Given the description of an element on the screen output the (x, y) to click on. 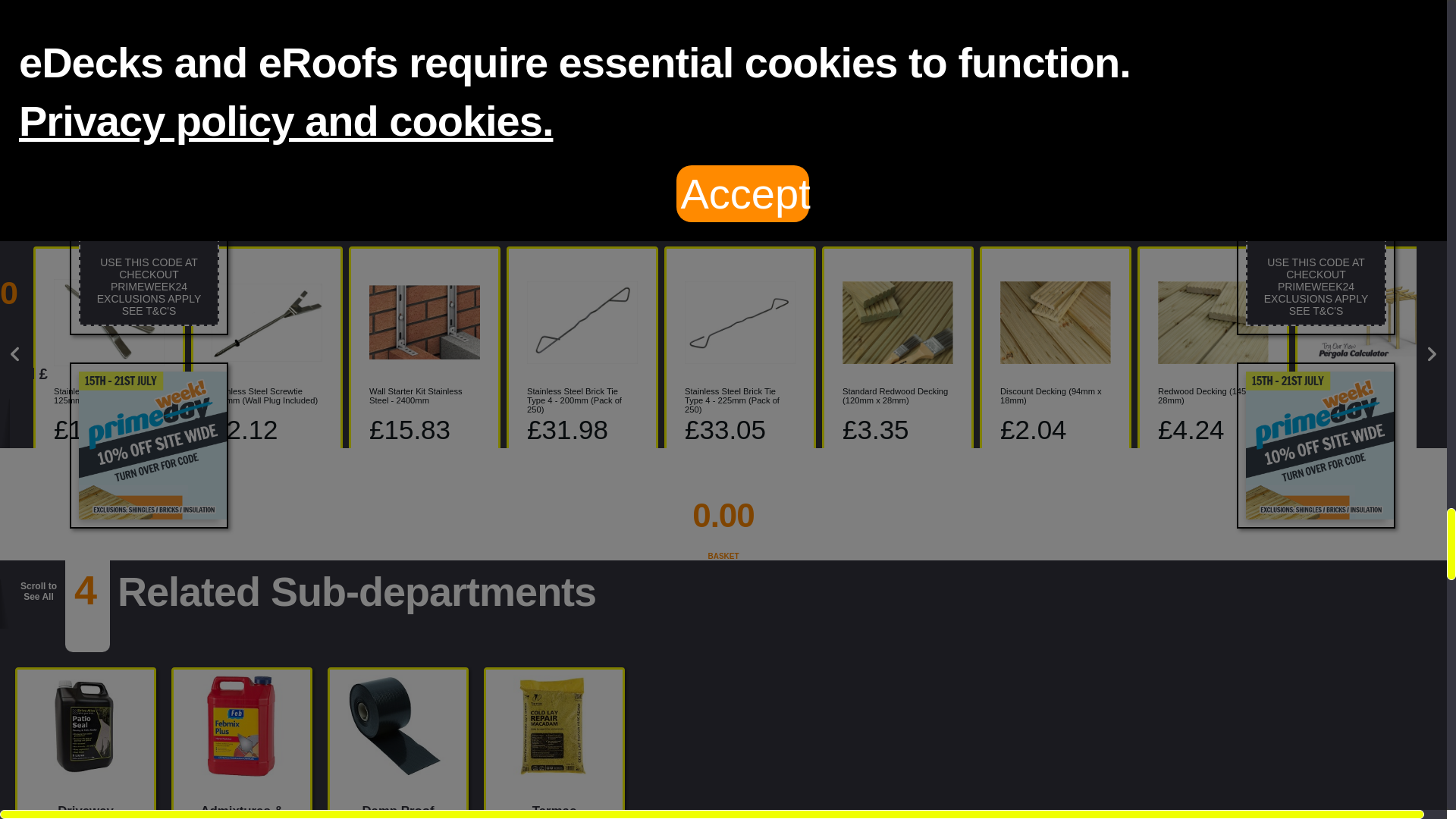
Wall Starter Kit Stainless Steel - 2400mm (424, 395)
Pergola Calculator (1371, 390)
